Given the description of an element on the screen output the (x, y) to click on. 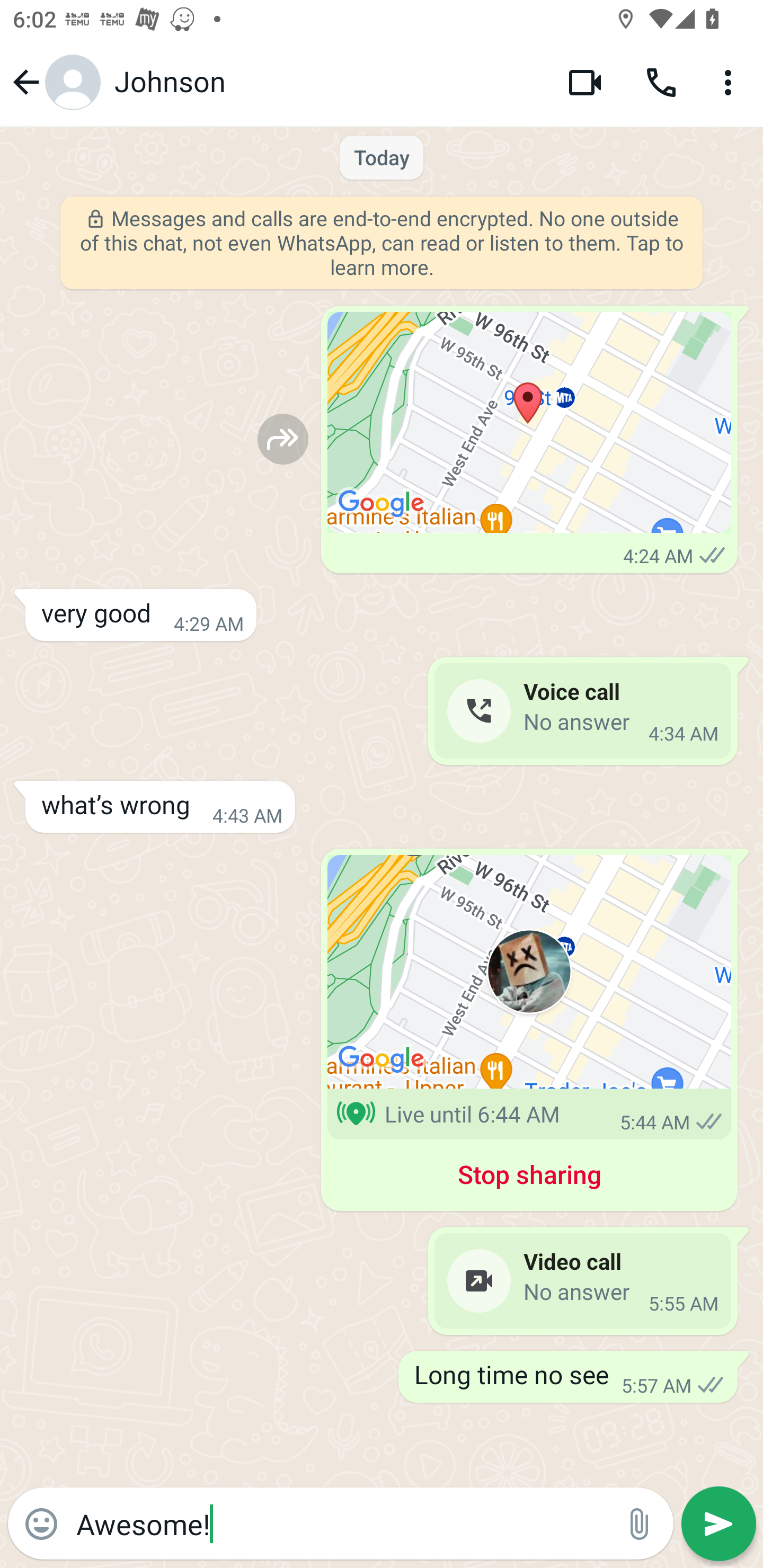
Johnson (327, 82)
Navigate up (54, 82)
Video call (585, 81)
Voice call (661, 81)
More options (731, 81)
Location (528, 422)
Forward to… (282, 438)
Live location (528, 971)
Stop sharing (529, 1178)
Emoji (41, 1523)
Attach (640, 1523)
Send (718, 1523)
Awesome! (340, 1523)
